Given the description of an element on the screen output the (x, y) to click on. 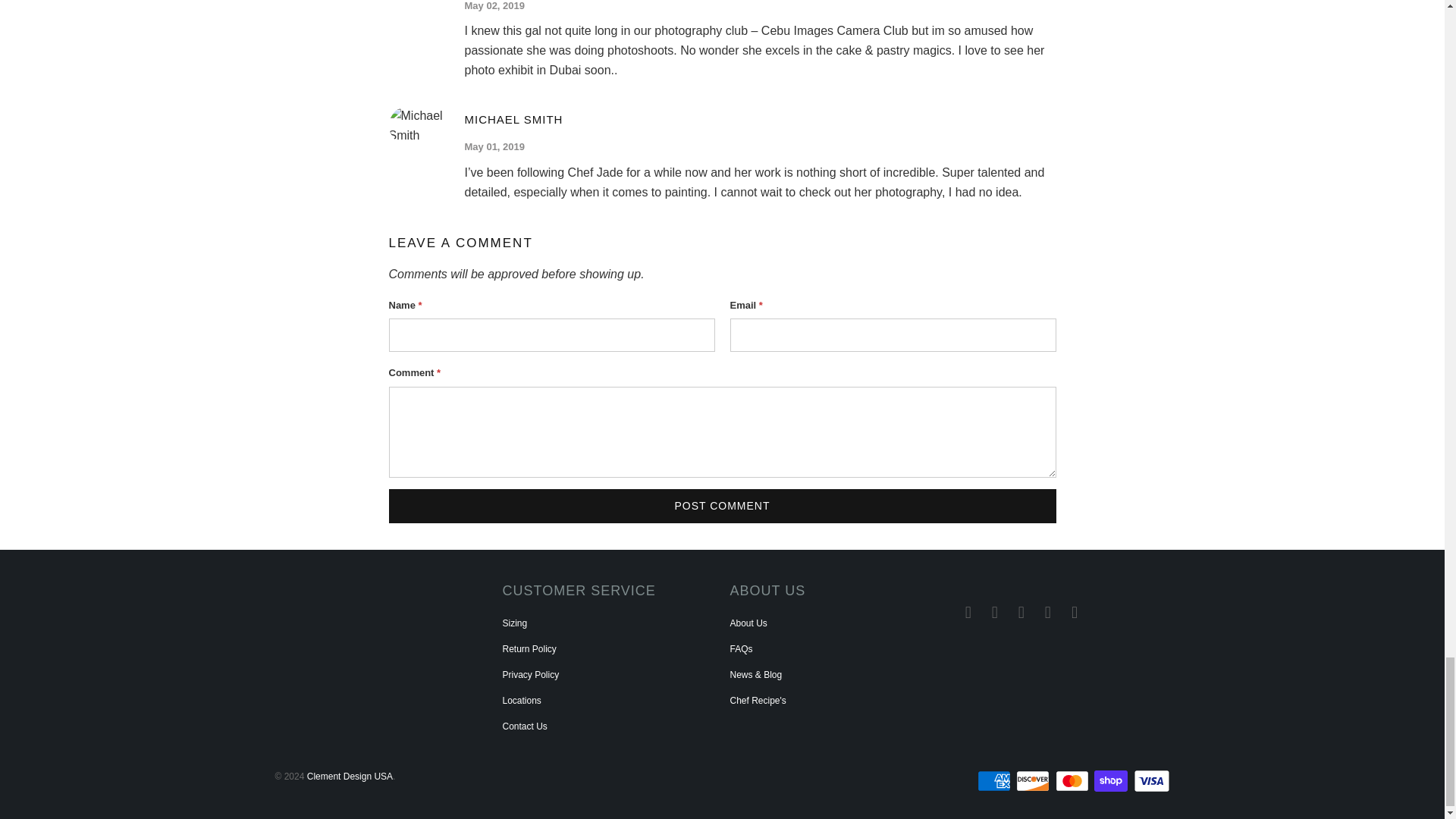
Shop Pay (1112, 780)
Visa (1150, 780)
Post comment (721, 505)
American Express (994, 780)
Mastercard (1073, 780)
Discover (1034, 780)
